Given the description of an element on the screen output the (x, y) to click on. 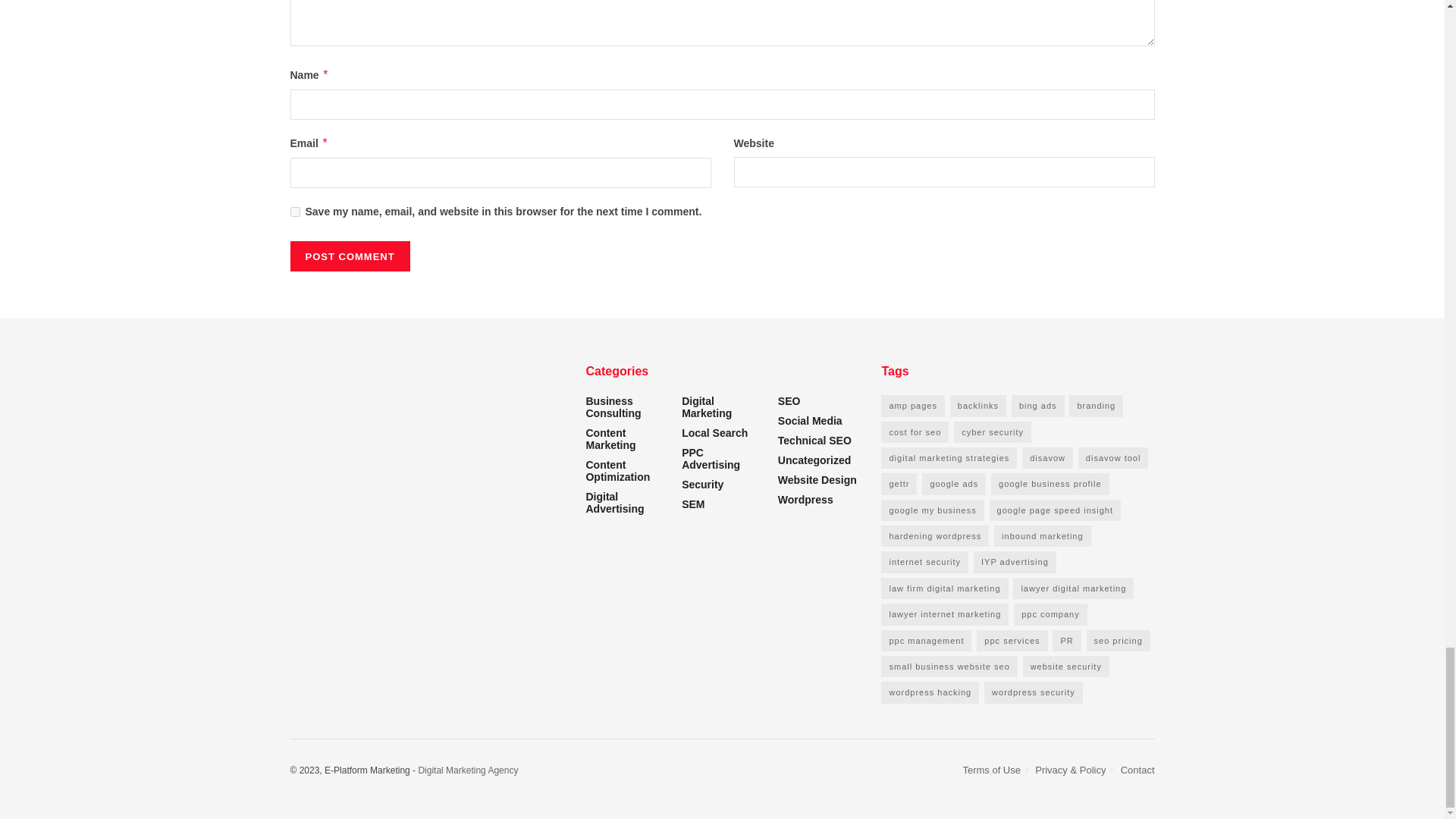
yes (294, 212)
Post Comment (349, 255)
